Given the description of an element on the screen output the (x, y) to click on. 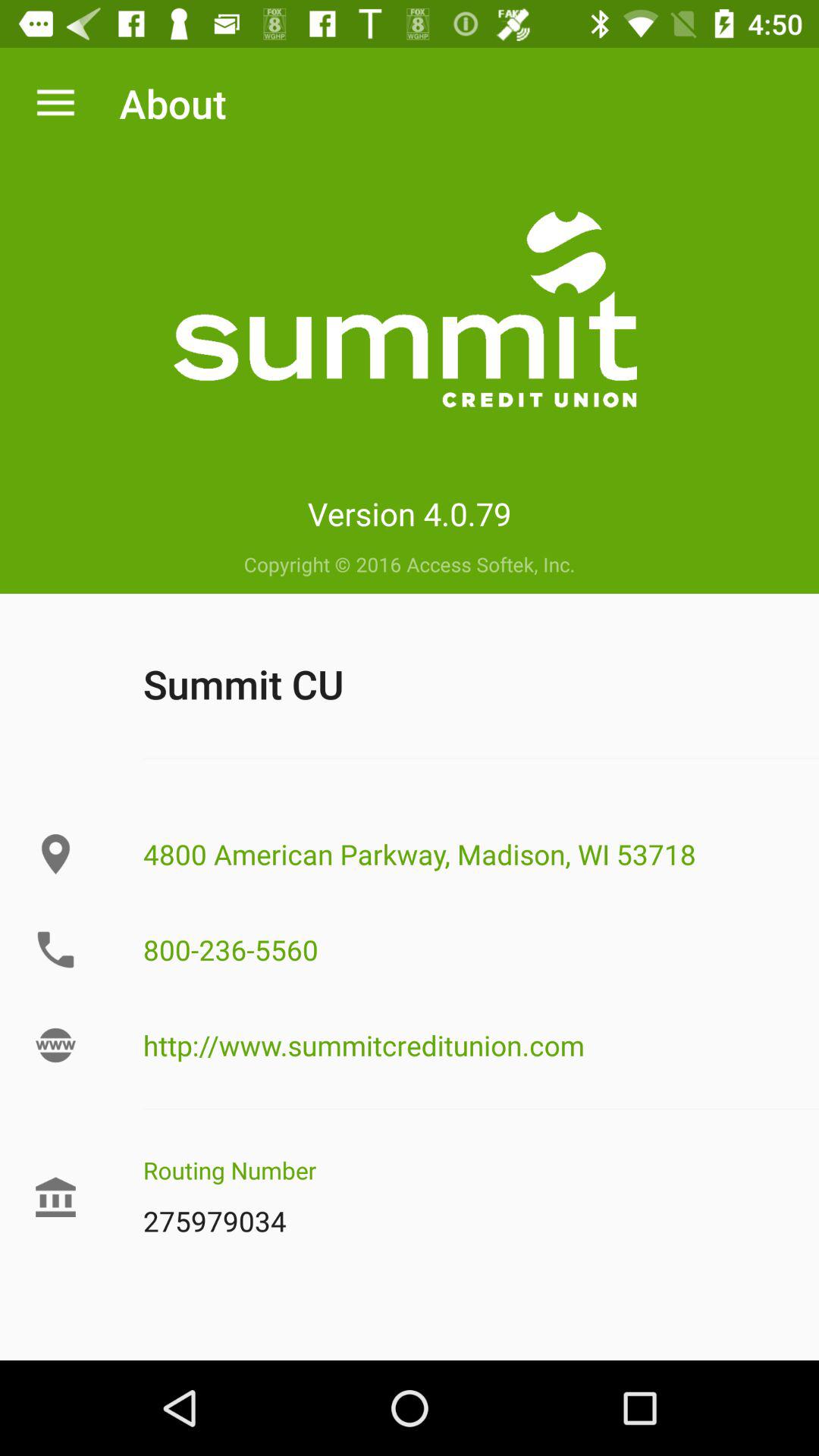
scroll until http www summitcreditunion item (481, 1045)
